Given the description of an element on the screen output the (x, y) to click on. 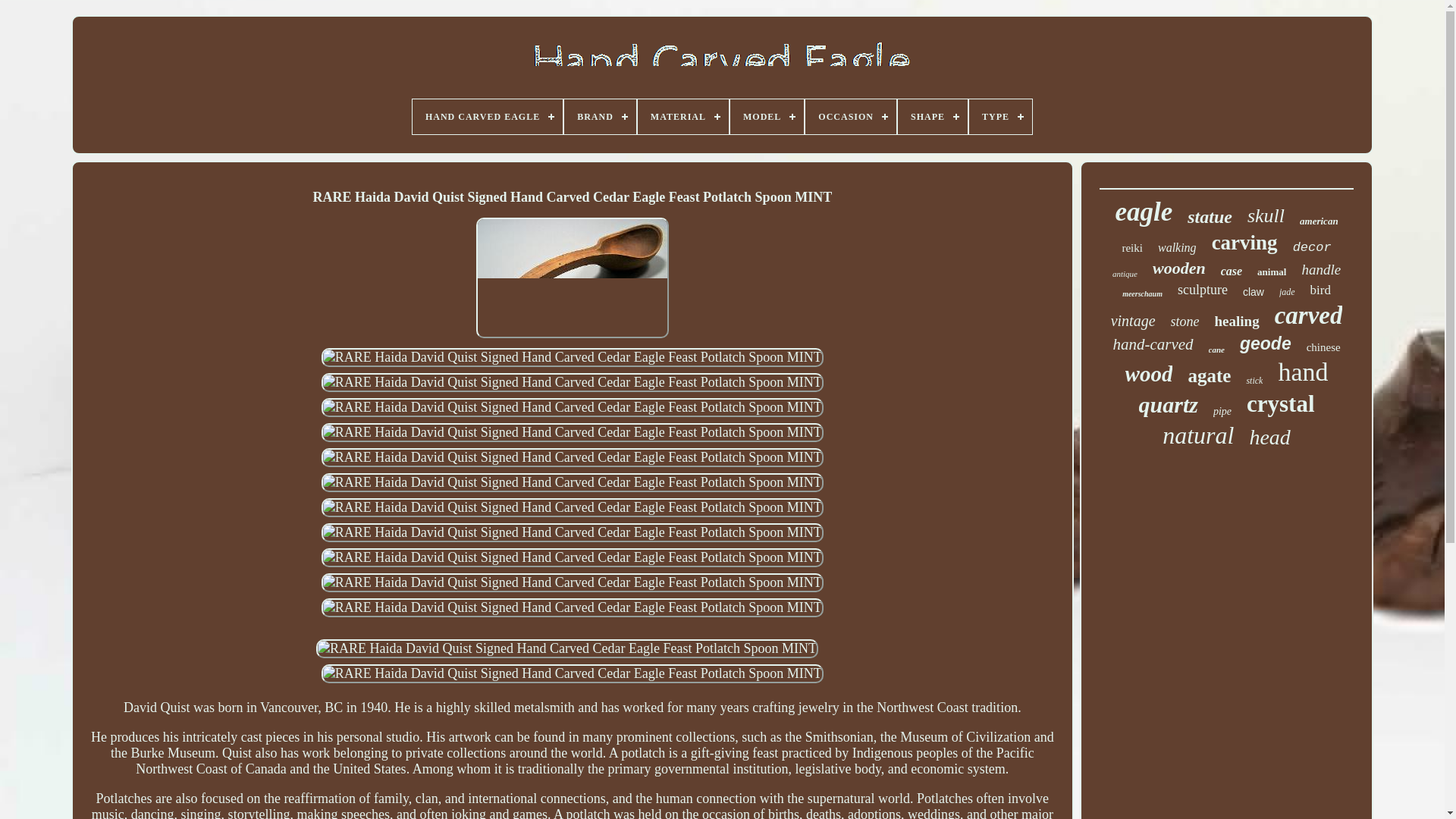
HAND CARVED EAGLE (487, 116)
BRAND (600, 116)
MATERIAL (683, 116)
